Given the description of an element on the screen output the (x, y) to click on. 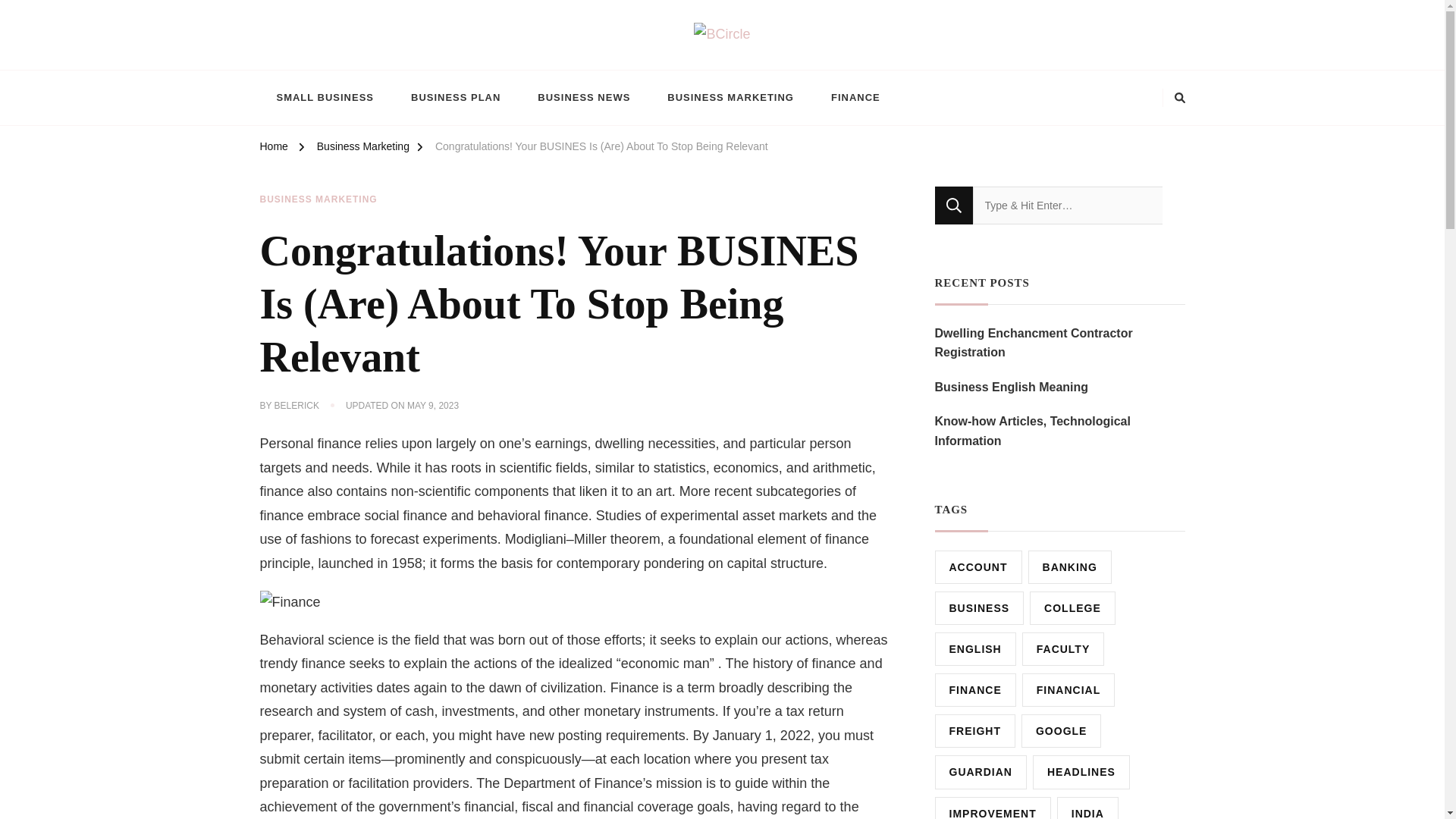
Search (953, 205)
BUSINESS PLAN (455, 96)
BANKING (1069, 566)
ACCOUNT (978, 566)
MAY 9, 2023 (432, 406)
Know-how Articles, Technological Information (1059, 430)
Search (953, 205)
Business Marketing (363, 148)
Search (953, 205)
Business English Meaning (1010, 387)
